Given the description of an element on the screen output the (x, y) to click on. 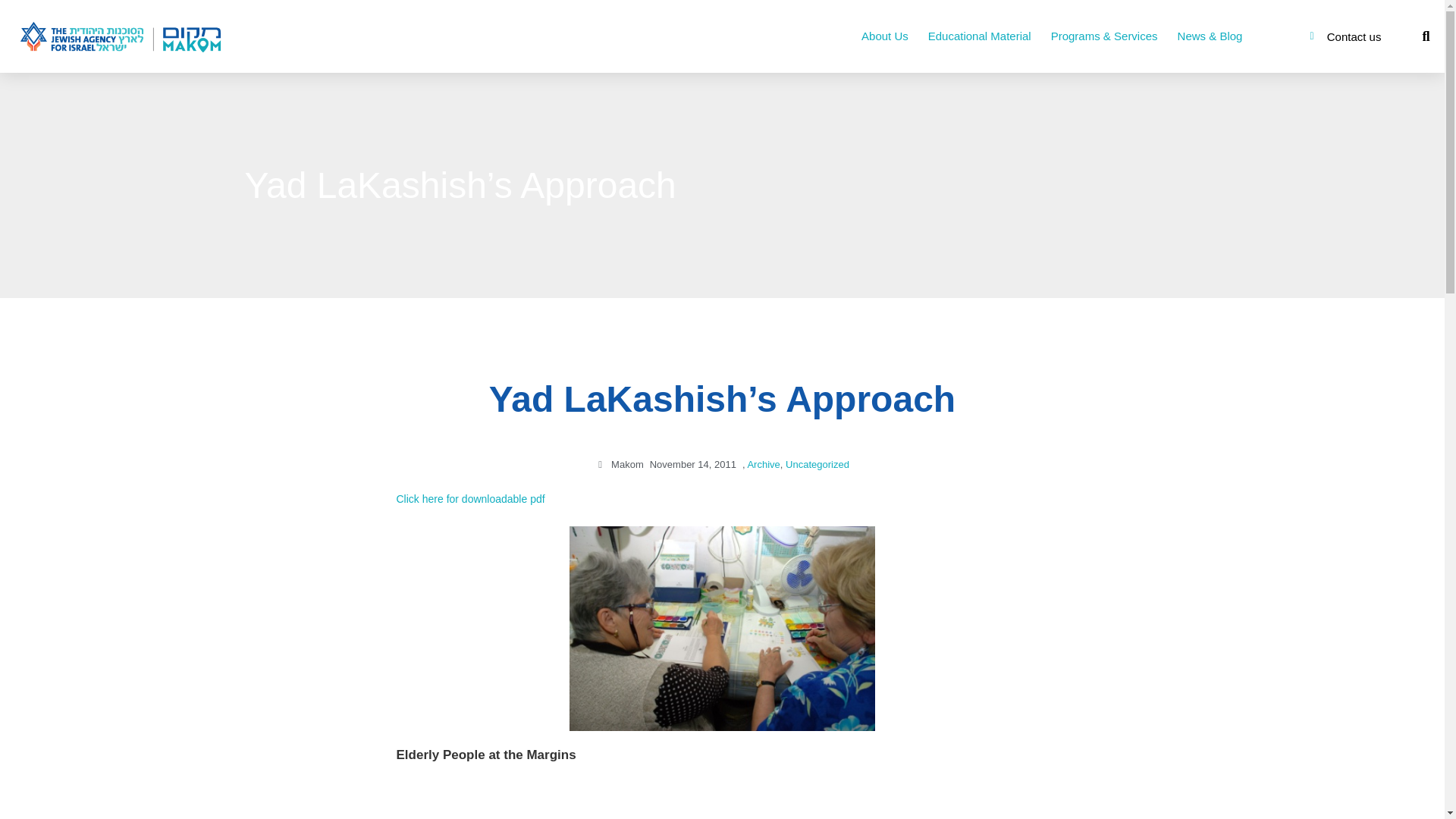
yad (722, 628)
About Us (884, 36)
Educational Material (979, 36)
